Given the description of an element on the screen output the (x, y) to click on. 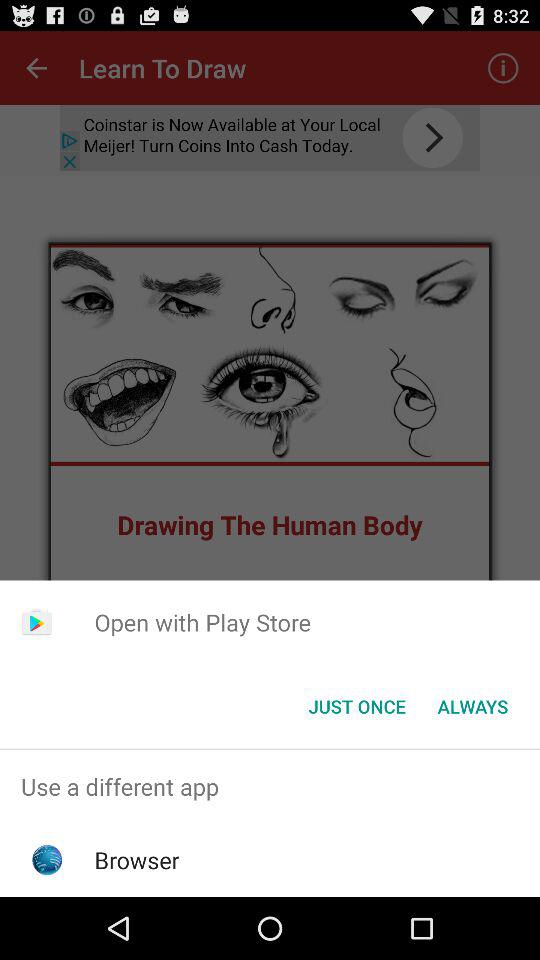
turn on the browser app (136, 860)
